Given the description of an element on the screen output the (x, y) to click on. 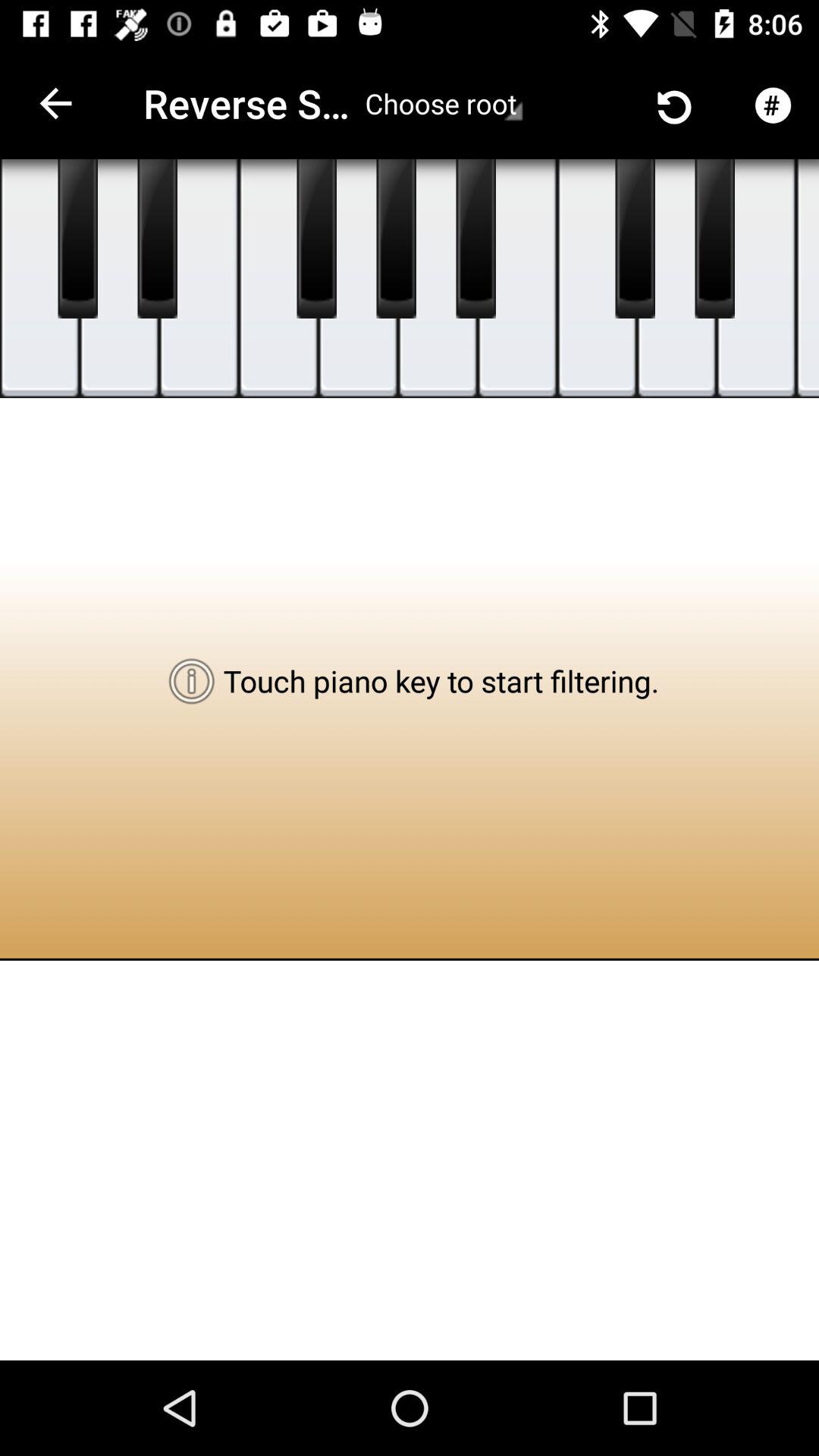
touch this key (517, 278)
